Given the description of an element on the screen output the (x, y) to click on. 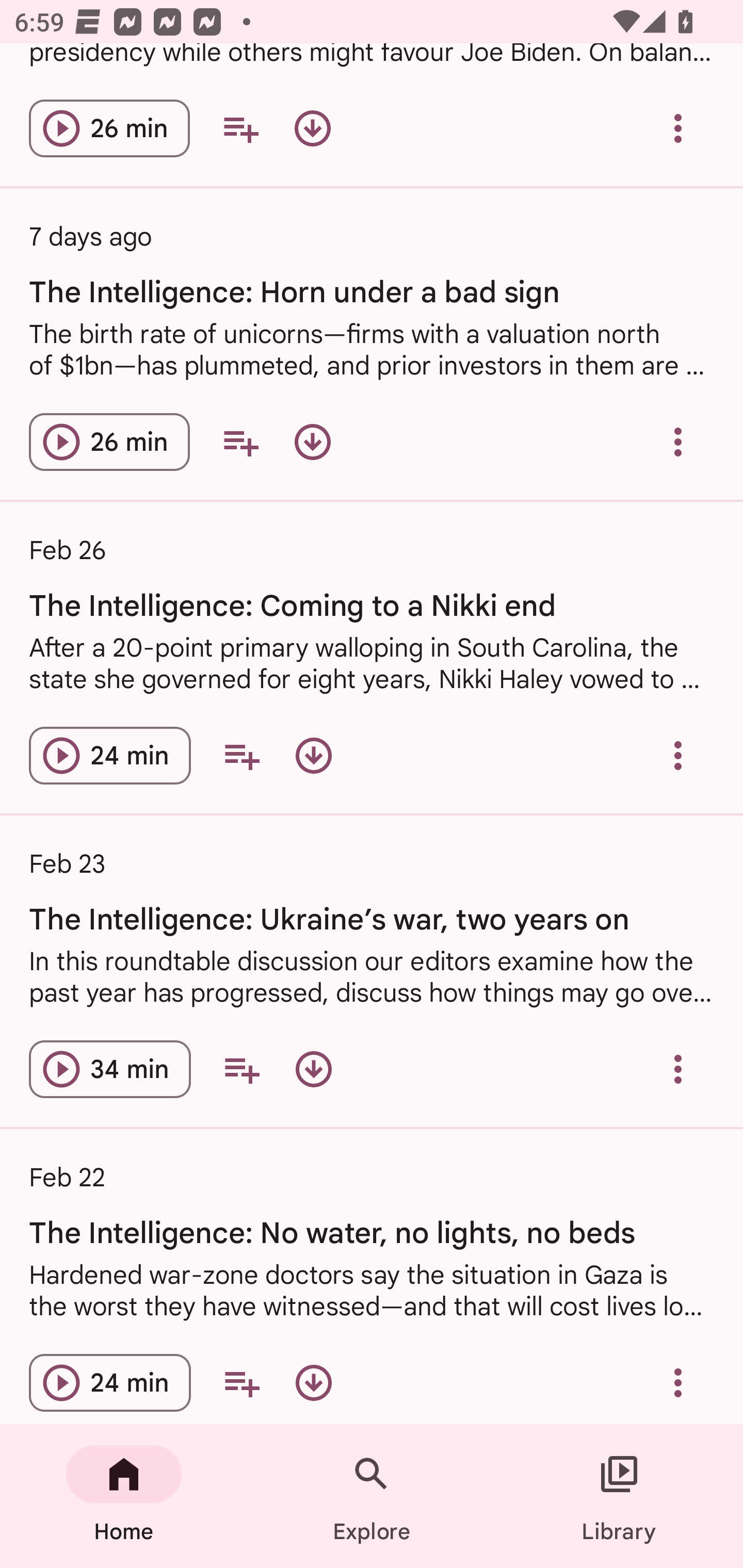
Add to your queue (240, 128)
Download episode (312, 128)
Overflow menu (677, 128)
Add to your queue (240, 442)
Download episode (312, 442)
Overflow menu (677, 442)
Add to your queue (241, 755)
Download episode (313, 755)
Overflow menu (677, 755)
Add to your queue (241, 1069)
Download episode (313, 1069)
Overflow menu (677, 1069)
Add to your queue (241, 1381)
Download episode (313, 1381)
Overflow menu (677, 1381)
Explore (371, 1495)
Library (619, 1495)
